Given the description of an element on the screen output the (x, y) to click on. 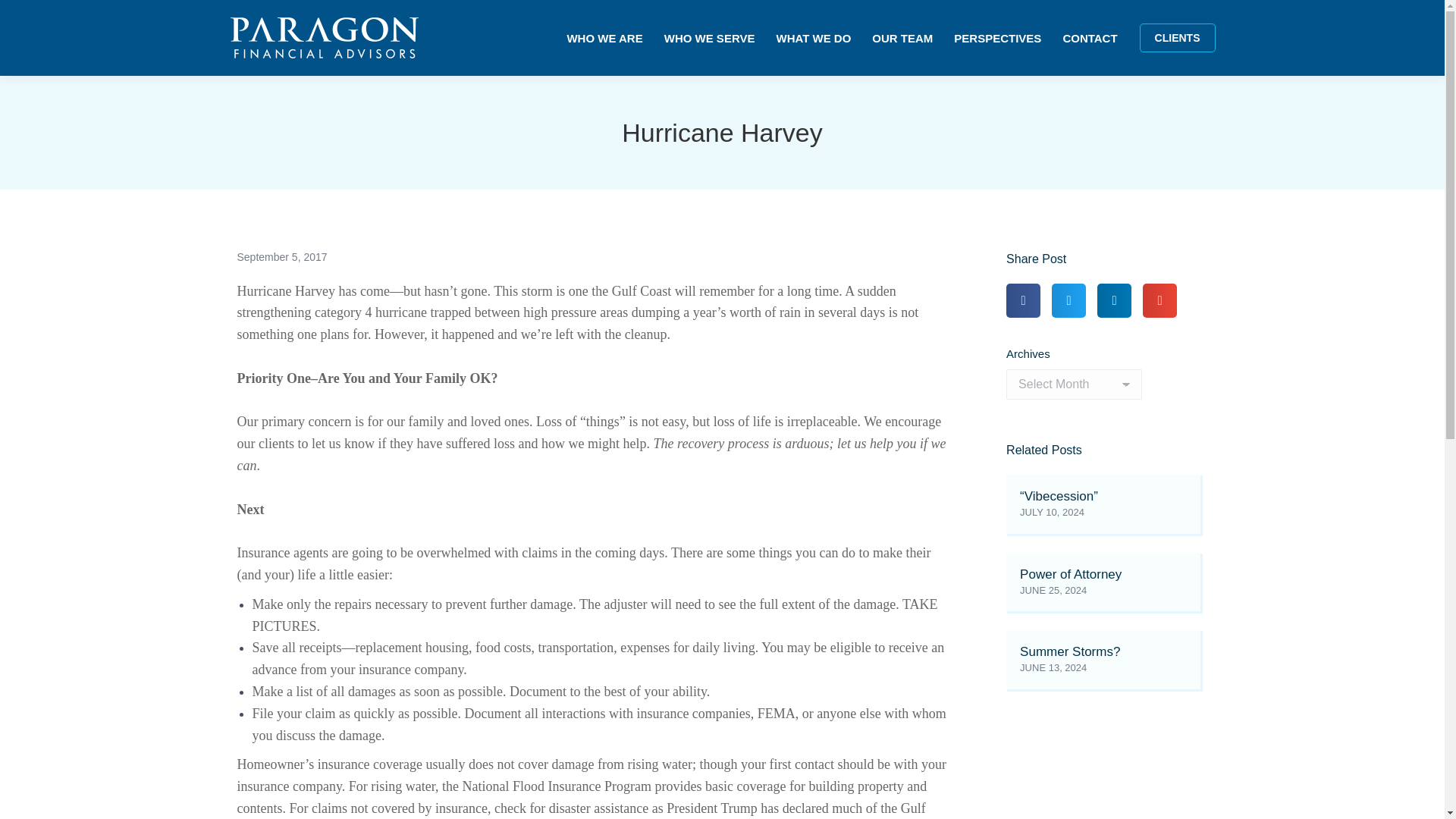
WHAT WE DO (813, 37)
Summer Storms? (1069, 651)
WHO WE SERVE (709, 37)
OUR TEAM (902, 37)
PERSPECTIVES (996, 37)
WHO WE ARE (604, 37)
CLIENTS (1177, 37)
CONTACT (1089, 37)
Power of Attorney (1070, 574)
